Given the description of an element on the screen output the (x, y) to click on. 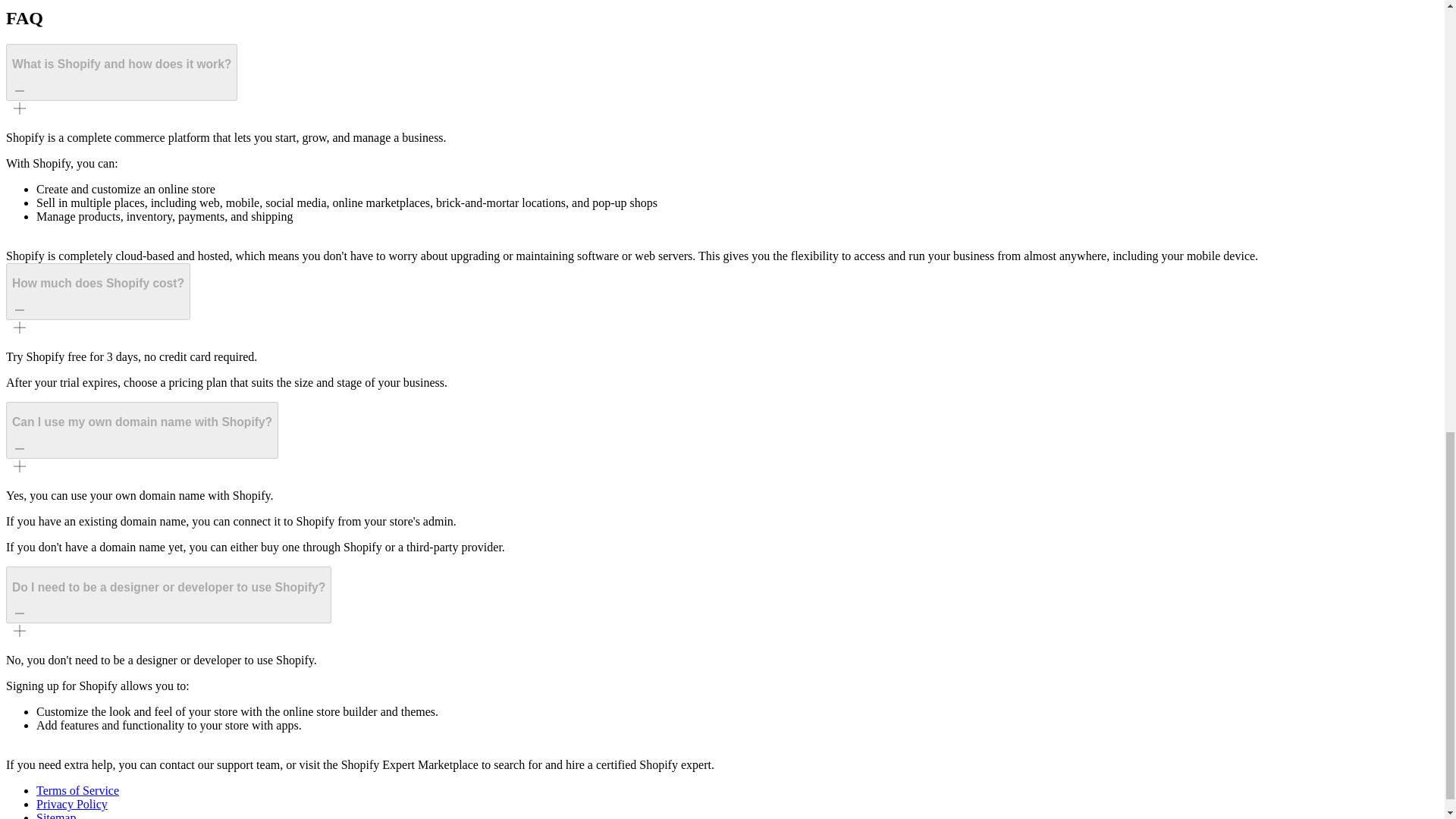
What is Shopify and how does it work? (121, 71)
Do I need to be a designer or developer to use Shopify? (168, 594)
Privacy Policy (71, 803)
How much does Shopify cost? (97, 291)
Can I use my own domain name with Shopify? (141, 430)
Terms of Service (77, 789)
